Given the description of an element on the screen output the (x, y) to click on. 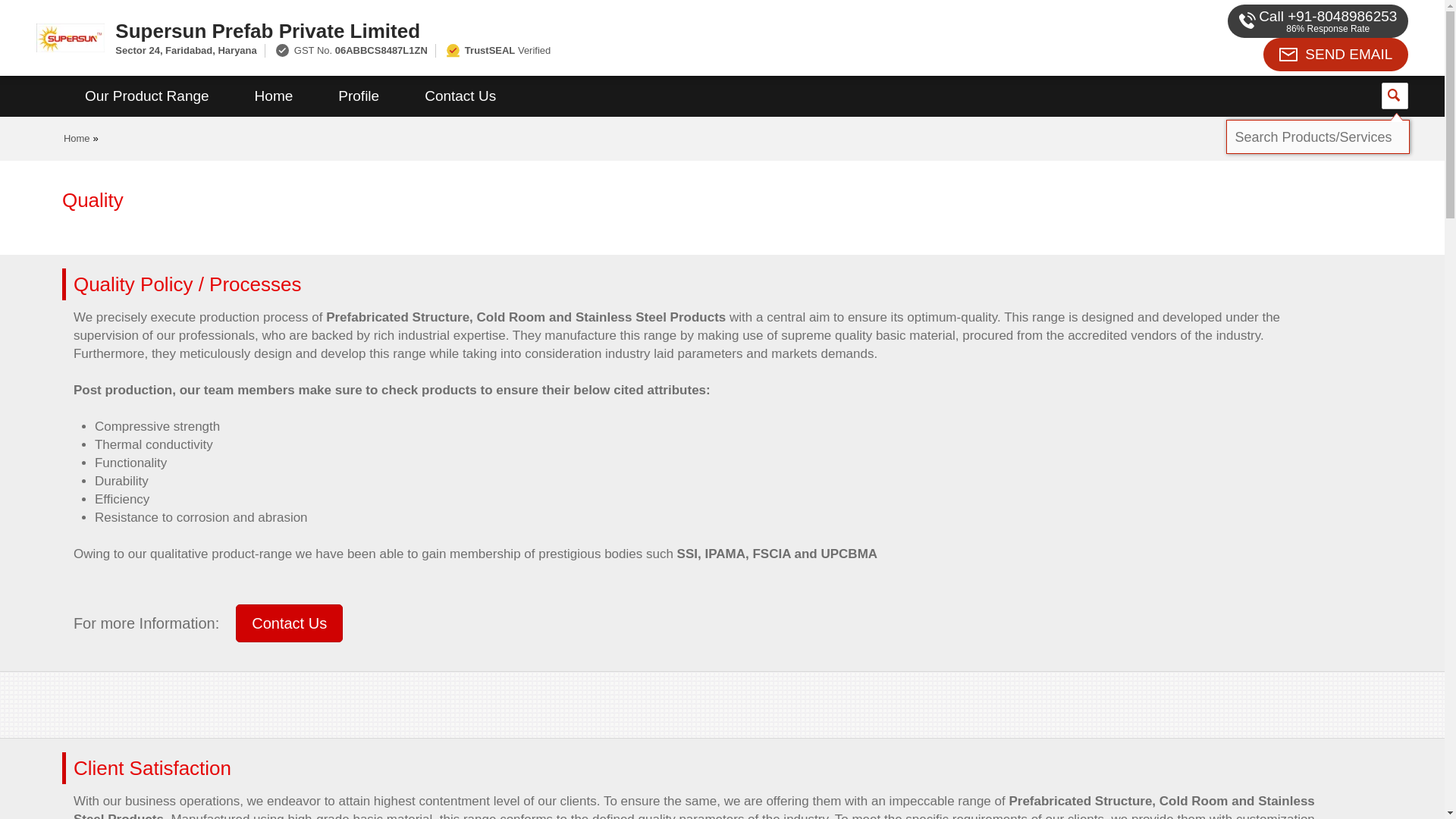
Supersun Prefab Private Limited (552, 31)
Our Product Range (146, 96)
Home (273, 96)
Profile (358, 96)
